Given the description of an element on the screen output the (x, y) to click on. 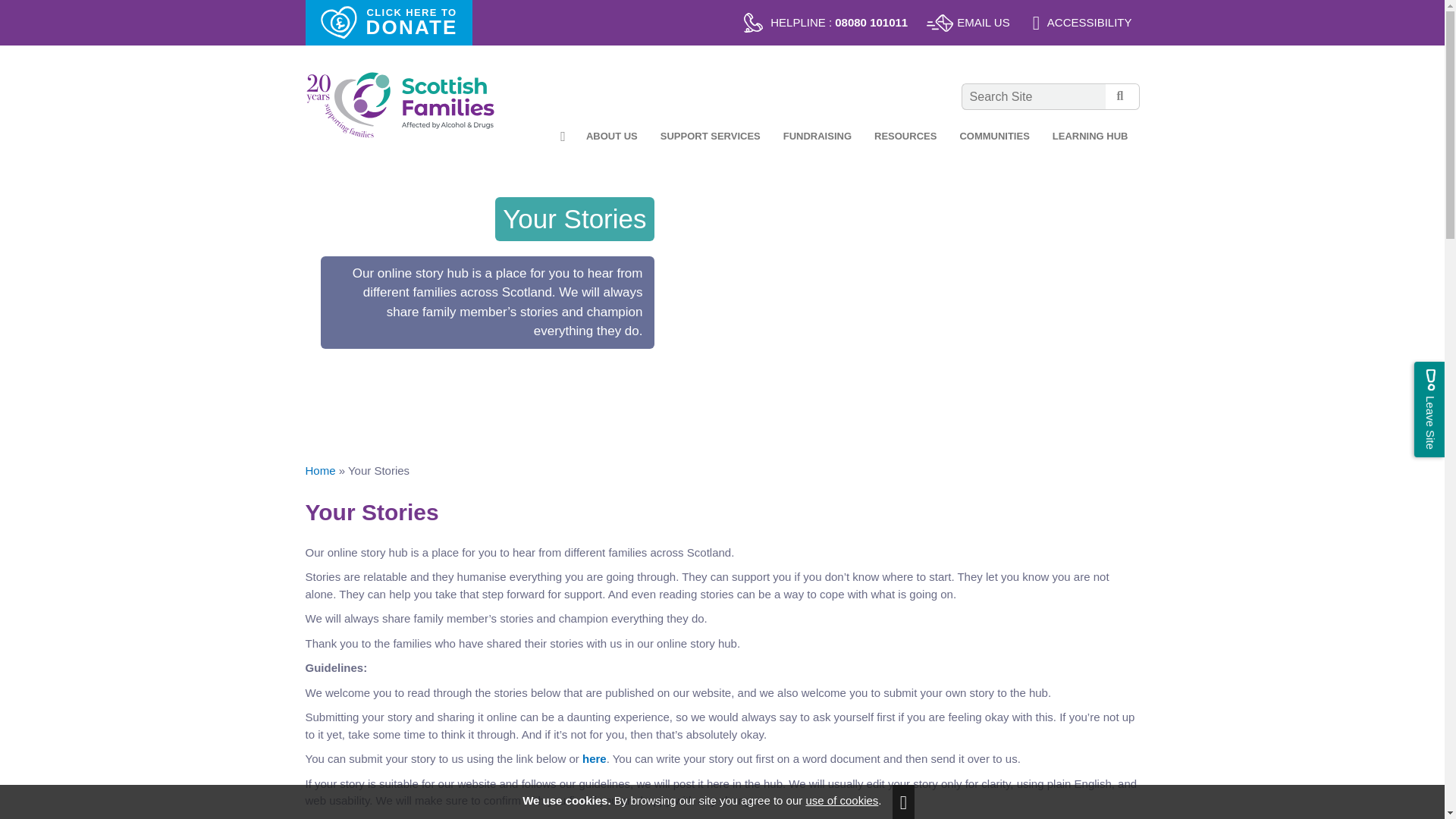
Email Us (969, 22)
Phone Us (825, 22)
SFAD Home Page (399, 105)
Go to SFAD. (319, 470)
Donate (387, 22)
Launch accessibility toolbar (1082, 22)
